Given the description of an element on the screen output the (x, y) to click on. 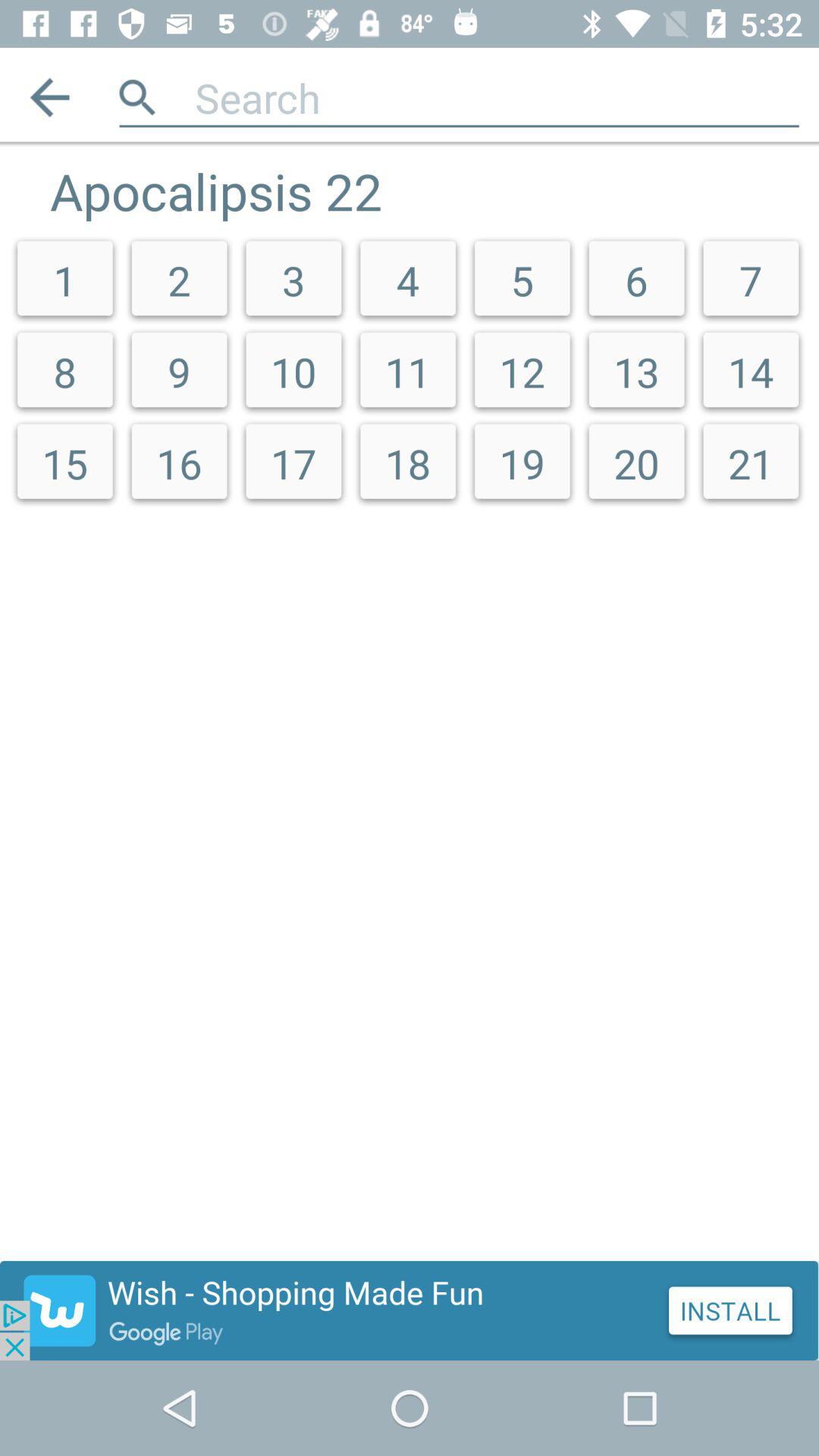
go to wish app on google play (409, 1310)
